Given the description of an element on the screen output the (x, y) to click on. 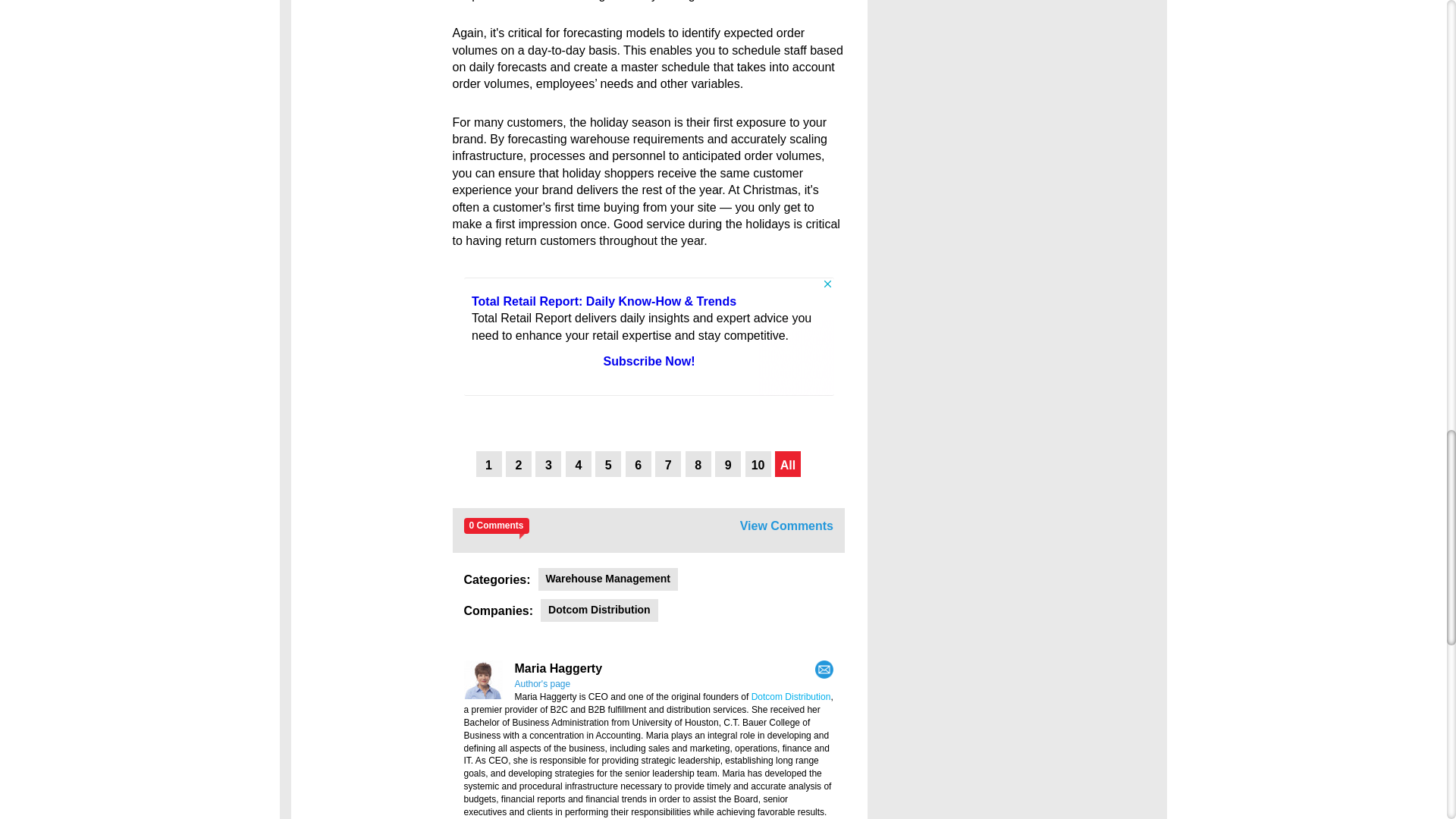
3rd party ad content (649, 336)
